Given the description of an element on the screen output the (x, y) to click on. 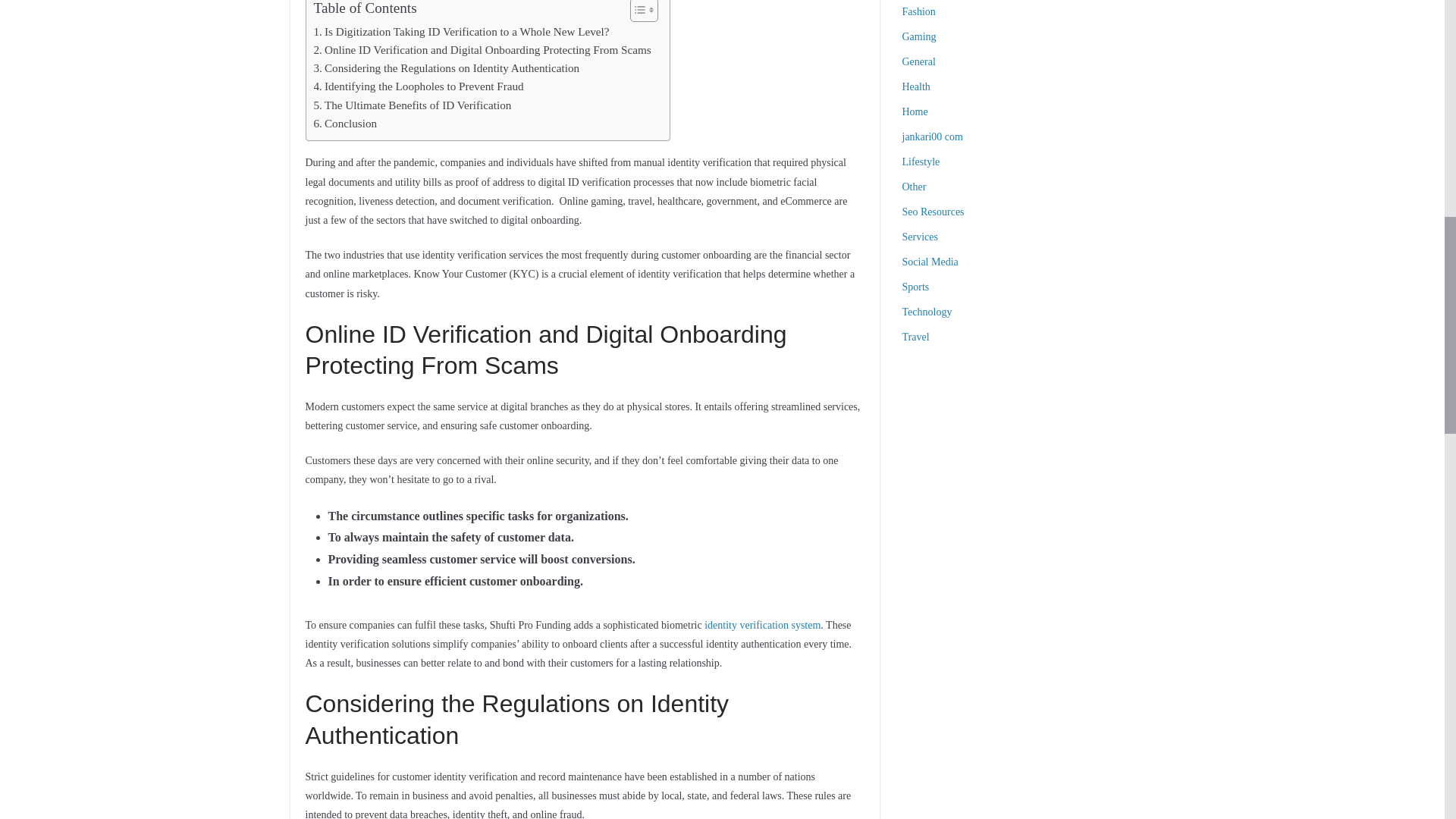
Conclusion (345, 123)
Conclusion (345, 123)
Identifying the Loopholes to Prevent Fraud  (420, 85)
identity verification system (762, 624)
The Ultimate Benefits of ID Verification  (414, 105)
Considering the Regulations on Identity Authentication   (449, 67)
